Given the description of an element on the screen output the (x, y) to click on. 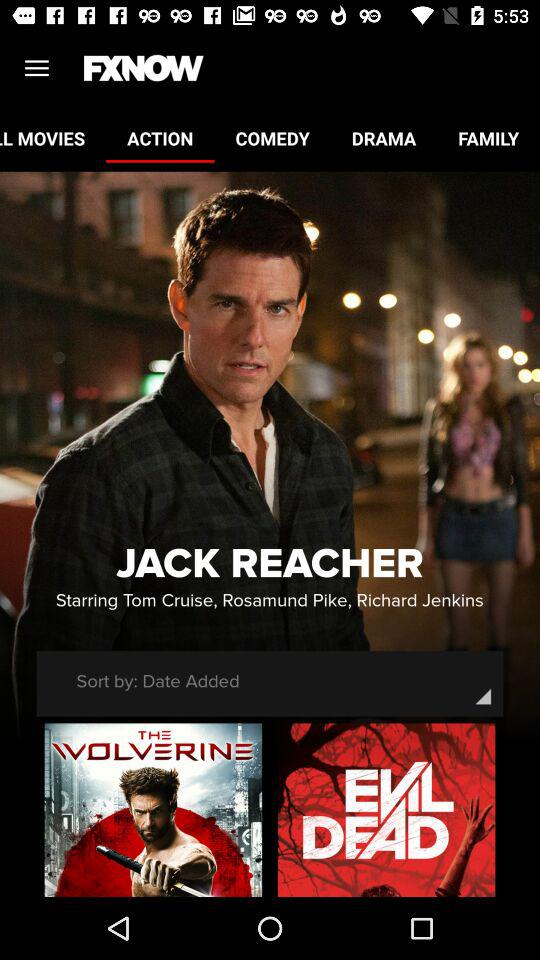
choose the icon above sort by date icon (269, 600)
